Given the description of an element on the screen output the (x, y) to click on. 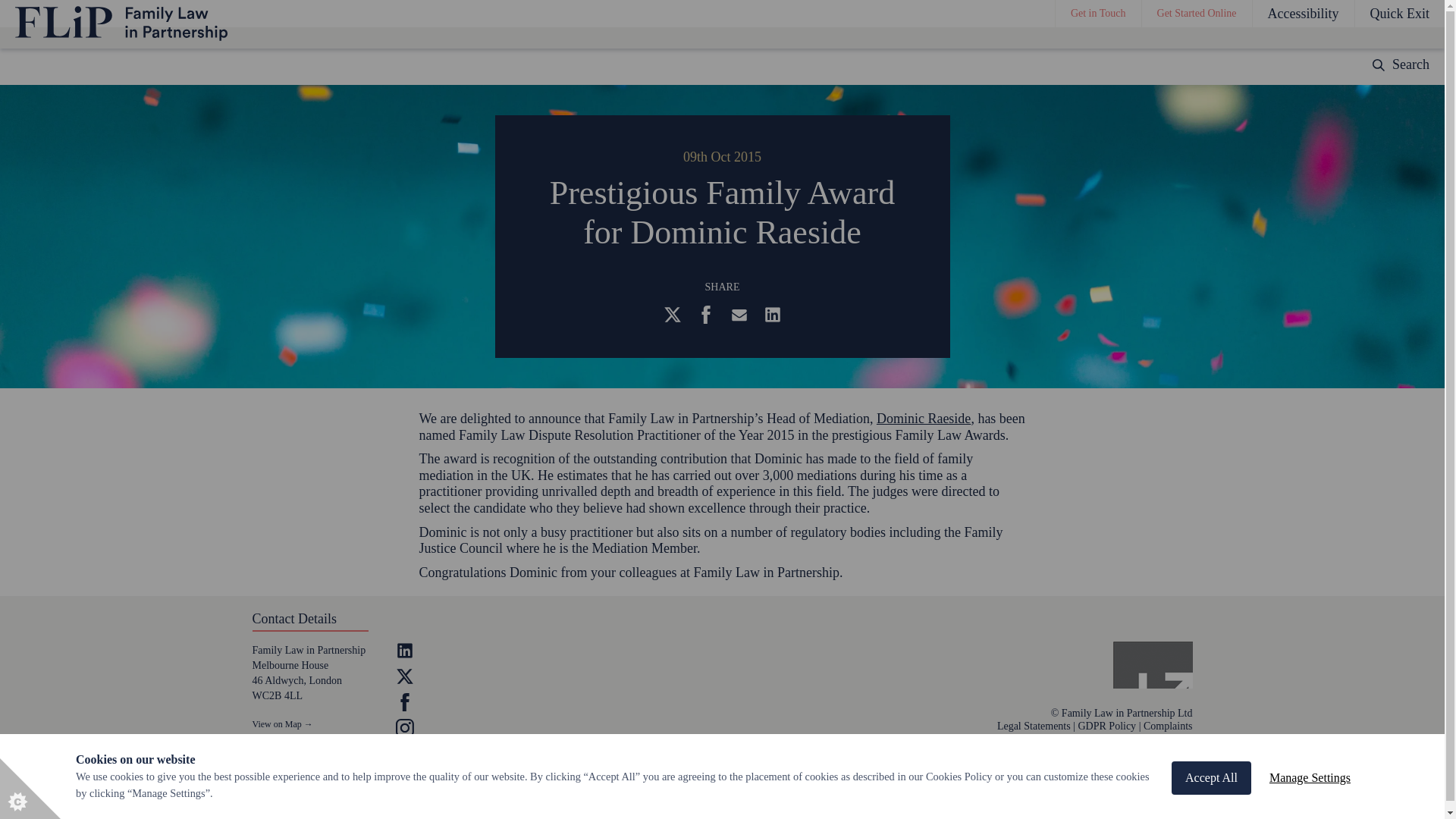
Accessibility (1303, 13)
GDPR Policy (1107, 726)
Get Started Online (1196, 13)
Get in Touch (1097, 13)
Dominic Raeside (923, 418)
Complaints (1167, 726)
Legal Statements (1033, 726)
